Given the description of an element on the screen output the (x, y) to click on. 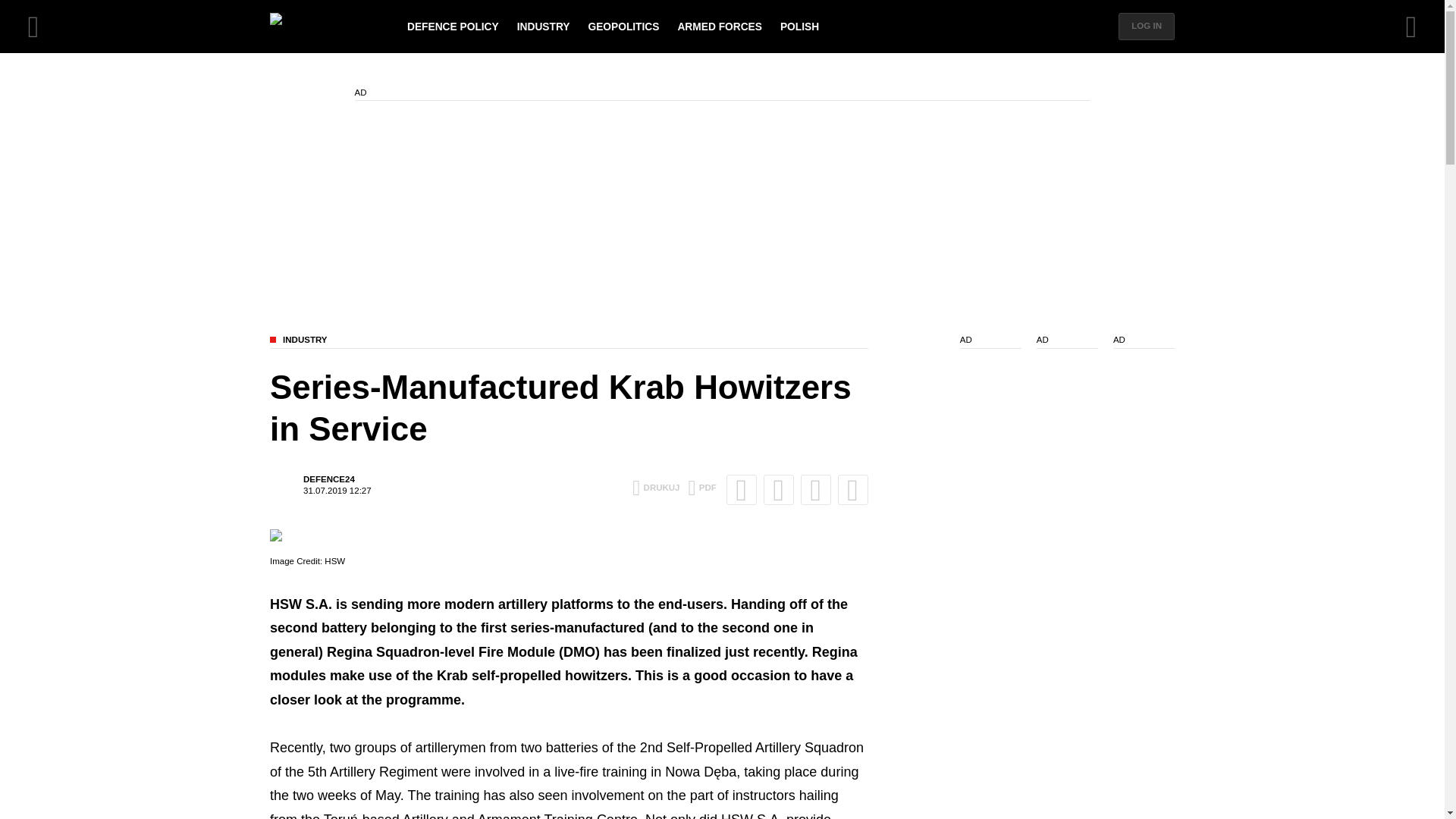
DEFENCE POLICY (453, 27)
GEOPOLITICS (623, 27)
DRUKUJ (655, 487)
ARMED FORCES (719, 27)
Facebook (741, 490)
LOG IN (1146, 26)
Twitter (777, 490)
Instagram (852, 490)
LinkedIn (815, 490)
INDUSTRY (543, 27)
POLISH (799, 27)
PDF (320, 485)
INDUSTRY (701, 487)
